Given the description of an element on the screen output the (x, y) to click on. 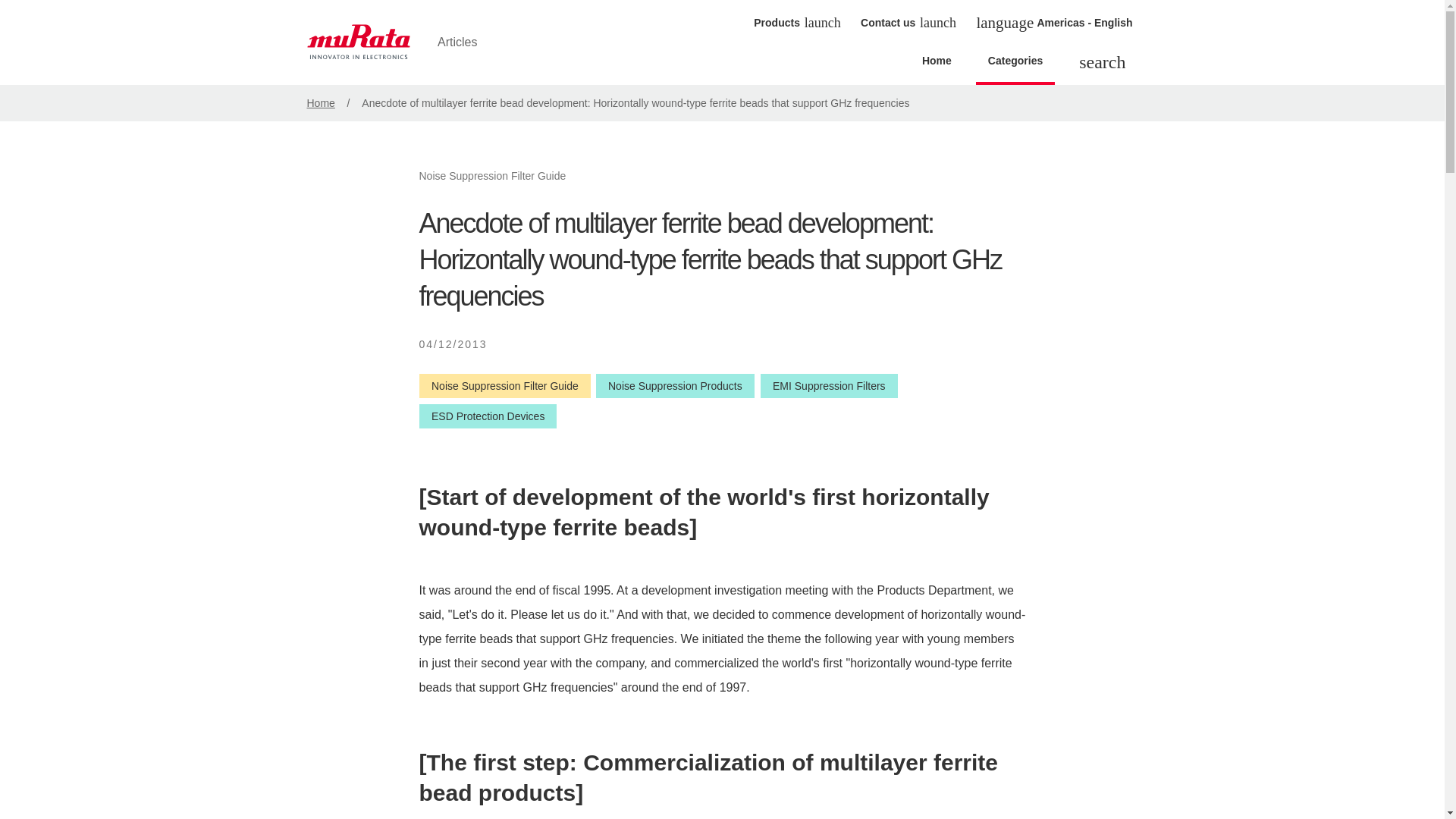
Articles (403, 42)
Noise Suppression Products (674, 385)
ESD Protection Devices (487, 416)
EMI Suppression Filters (829, 385)
Categories (1014, 65)
search (1102, 63)
Home (319, 102)
Products launch (795, 22)
Home (936, 65)
Noise Suppression Filter Guide (504, 385)
